Given the description of an element on the screen output the (x, y) to click on. 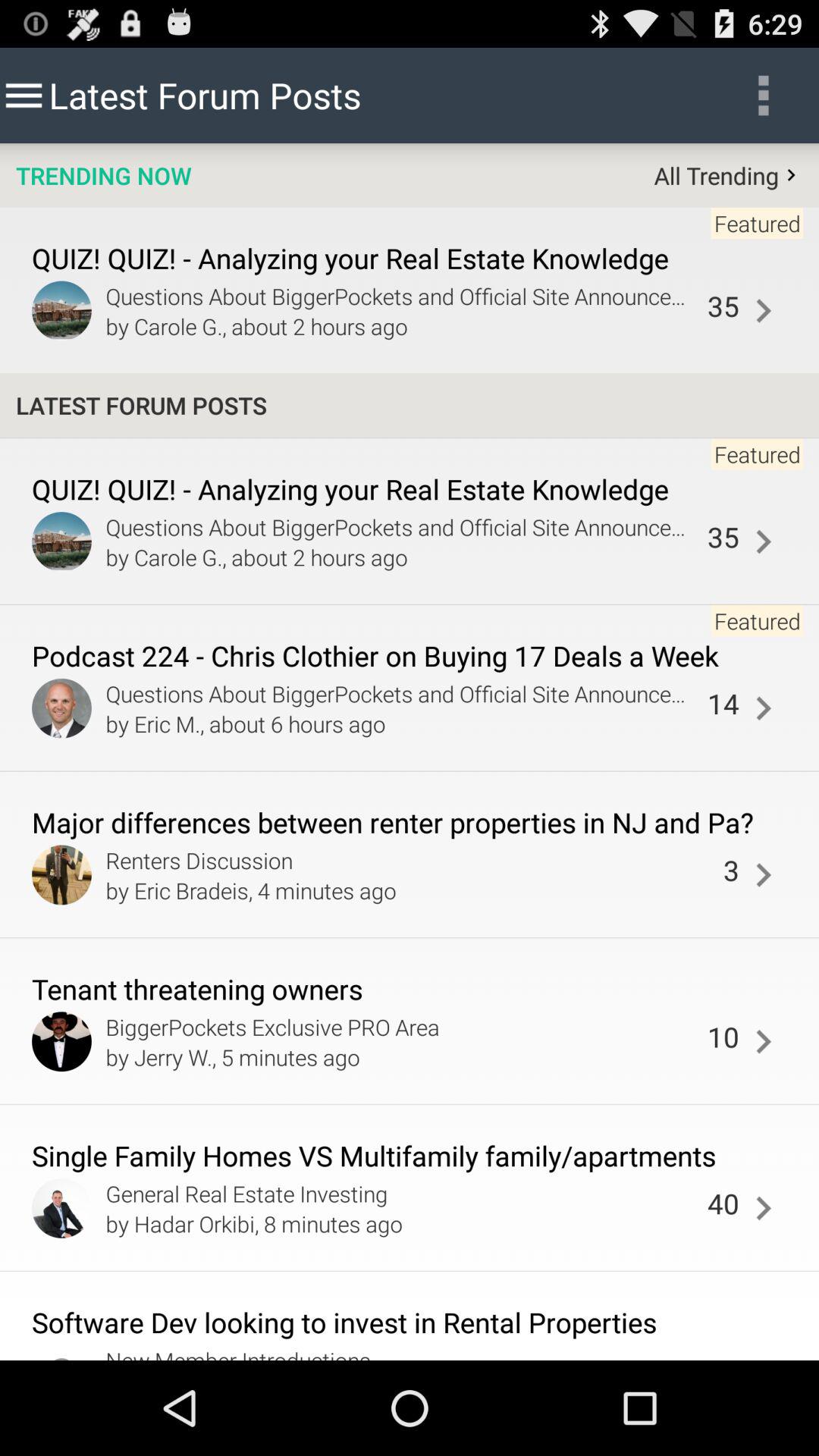
select item to the left of all trending icon (103, 175)
